Given the description of an element on the screen output the (x, y) to click on. 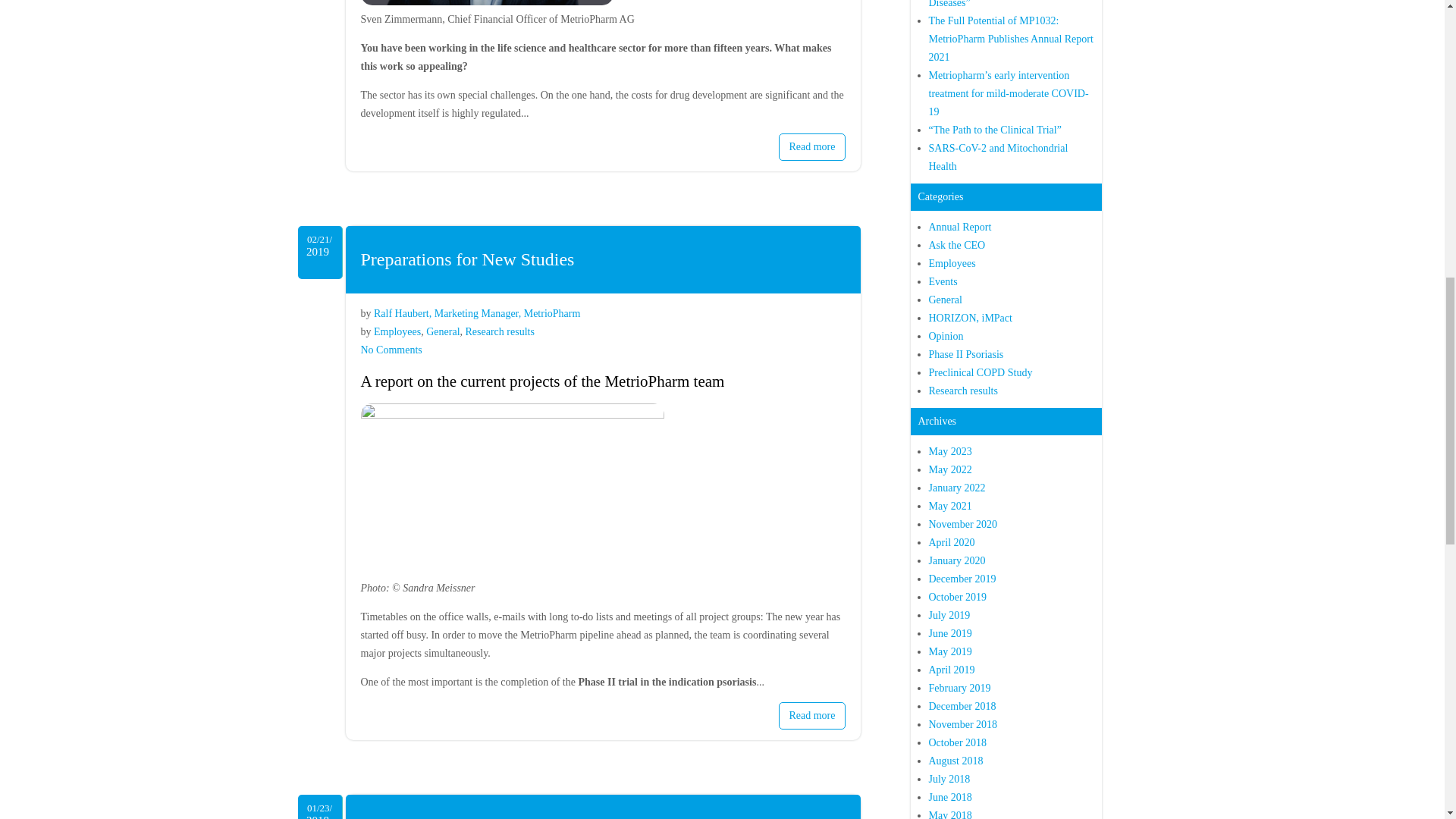
Permalink to The Road to Market (811, 146)
Preparations for New Studies (468, 259)
General (443, 331)
Read more (391, 349)
Research results (811, 146)
Employees (499, 331)
Ralf Haubert, Marketing Manager, MetrioPharm (397, 331)
Permalink to Preparations for New Studies (476, 313)
Read more (468, 259)
Permalink to Preparations for New Studies (811, 715)
